Given the description of an element on the screen output the (x, y) to click on. 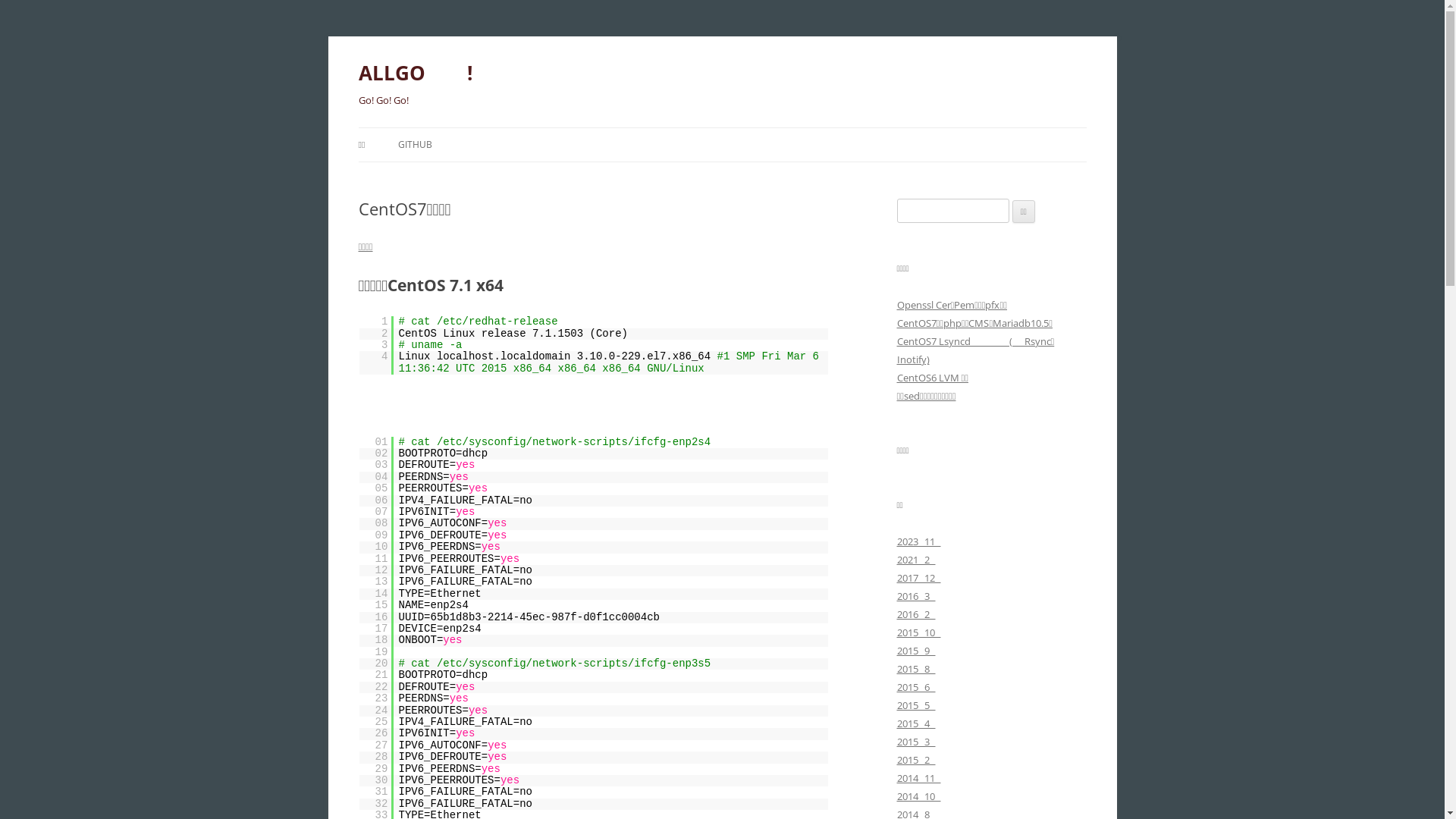
GITHUB Element type: text (415, 144)
